Given the description of an element on the screen output the (x, y) to click on. 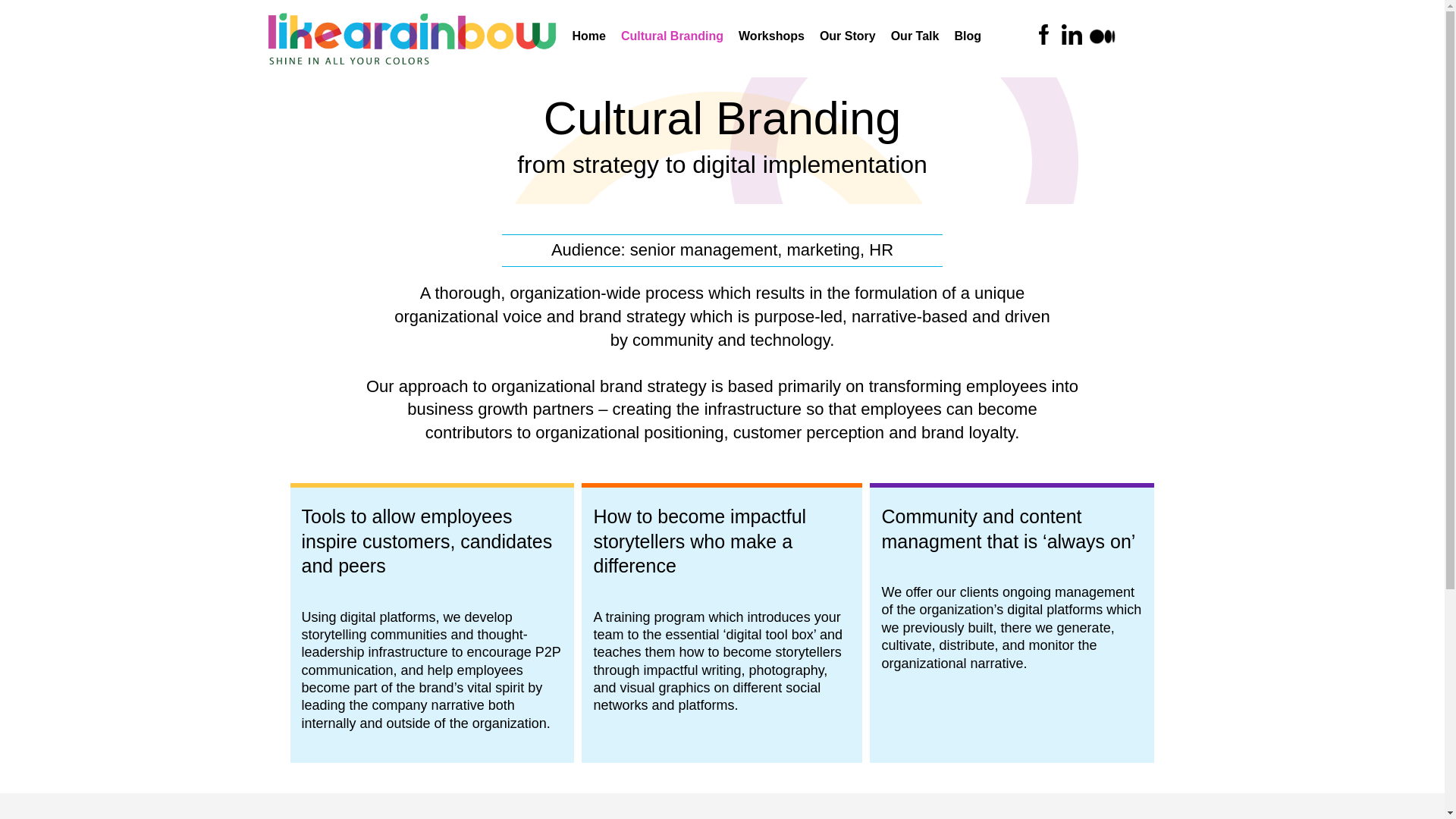
Home (588, 36)
Cultural Branding (671, 36)
Blog (967, 36)
Our Talk (915, 36)
Our Story (847, 36)
Workshops (771, 36)
